Given the description of an element on the screen output the (x, y) to click on. 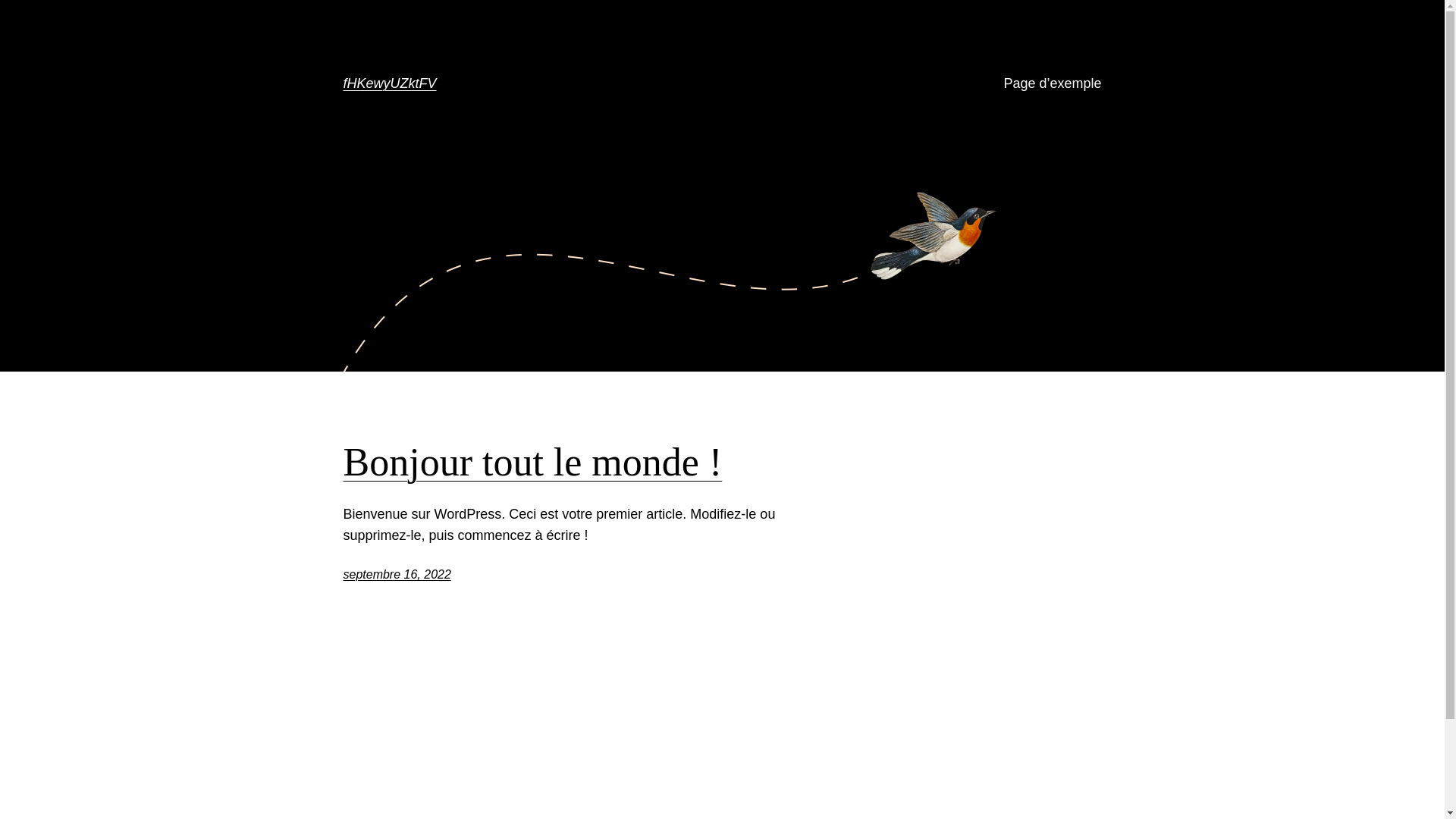
septembre 16, 2022 Element type: text (396, 573)
fHKewyUZktFV Element type: text (389, 83)
Bonjour tout le monde ! Element type: text (531, 462)
